Given the description of an element on the screen output the (x, y) to click on. 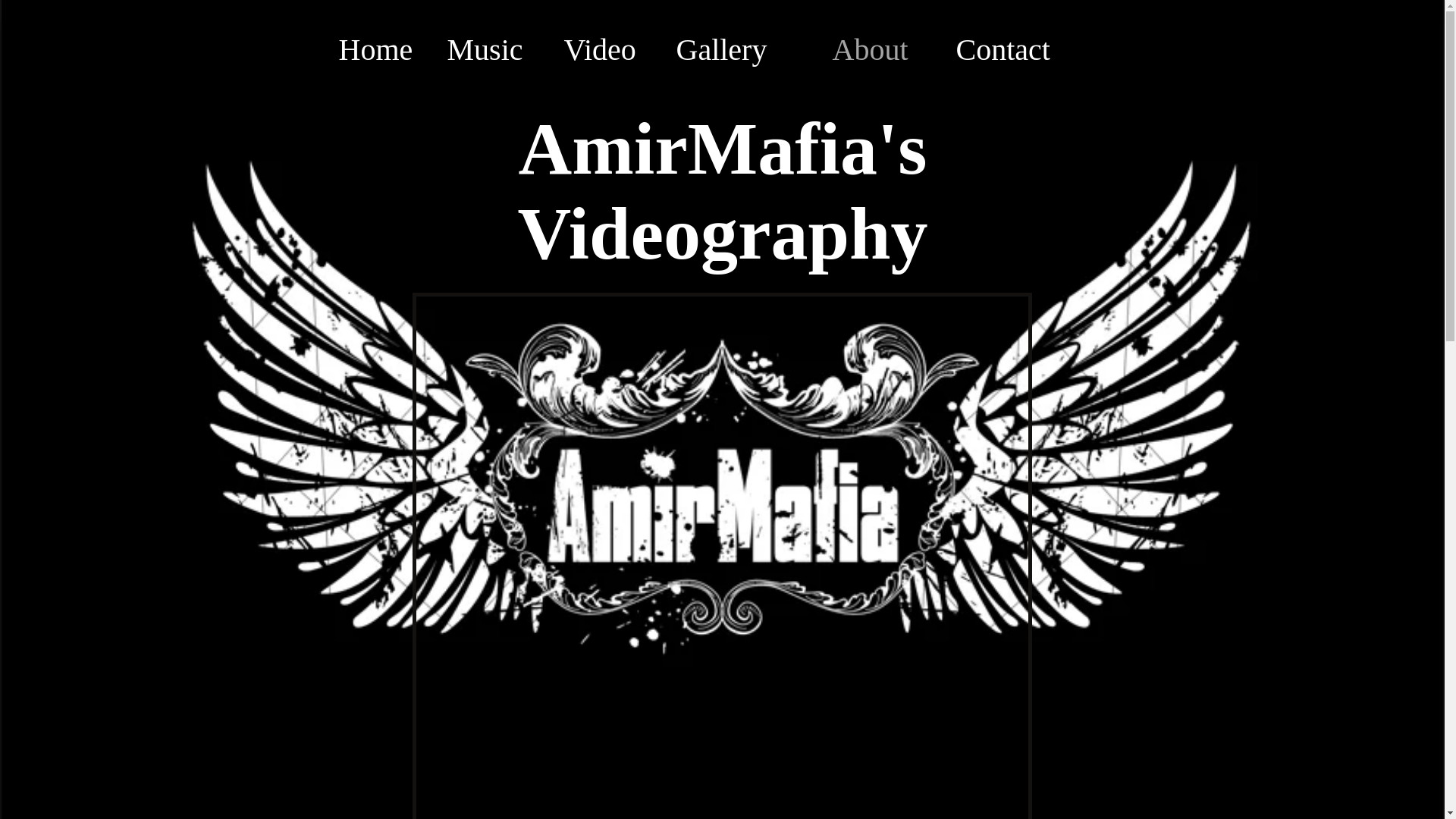
Gallery (746, 49)
Video (612, 49)
Contact (1027, 49)
Music (497, 49)
Home (384, 49)
About (887, 49)
